Given the description of an element on the screen output the (x, y) to click on. 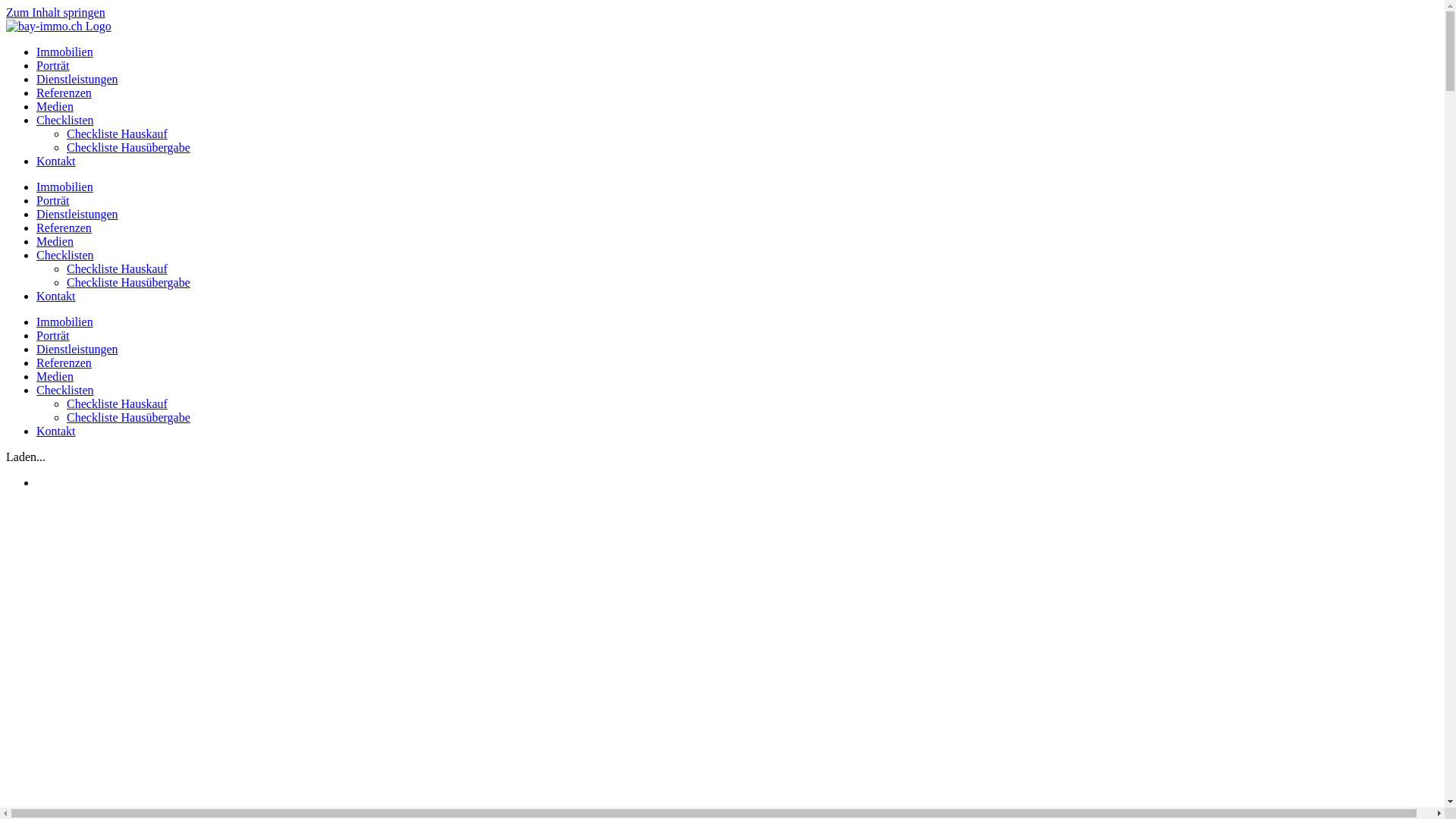
Immobilien Element type: text (64, 321)
Medien Element type: text (54, 241)
Checkliste Hauskauf Element type: text (116, 268)
Checklisten Element type: text (65, 254)
Dienstleistungen Element type: text (77, 78)
Referenzen Element type: text (63, 92)
Referenzen Element type: text (63, 227)
Dienstleistungen Element type: text (77, 213)
Referenzen Element type: text (63, 362)
Checkliste Hauskauf Element type: text (116, 133)
Checklisten Element type: text (65, 389)
Kontakt Element type: text (55, 295)
Immobilien Element type: text (64, 51)
Medien Element type: text (54, 376)
Dienstleistungen Element type: text (77, 348)
Kontakt Element type: text (55, 430)
Immobilien Element type: text (64, 186)
Checklisten Element type: text (65, 119)
Kontakt Element type: text (55, 160)
Medien Element type: text (54, 106)
Zum Inhalt springen Element type: text (55, 12)
Checkliste Hauskauf Element type: text (116, 403)
